Given the description of an element on the screen output the (x, y) to click on. 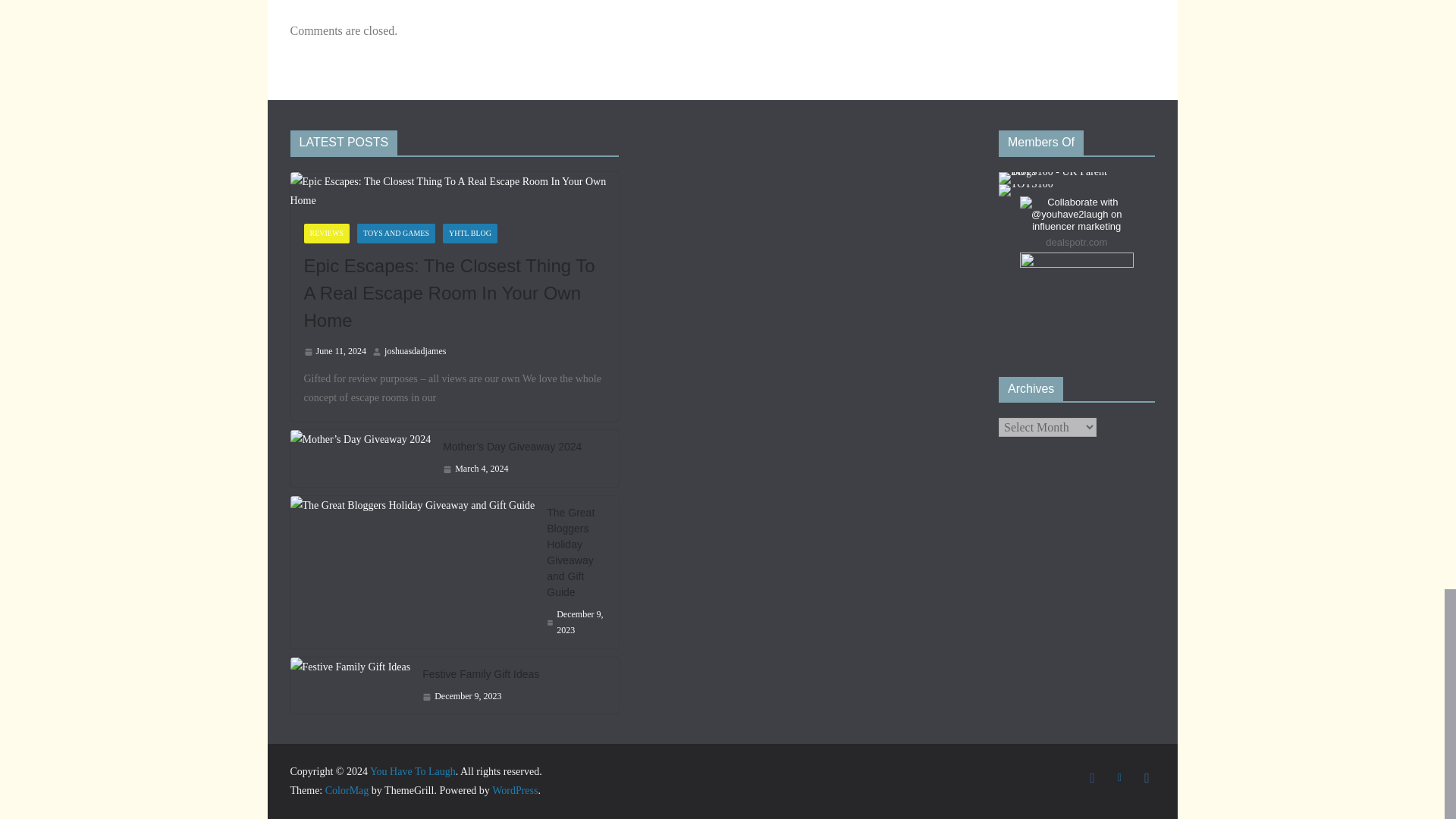
joshuasdadjames (414, 351)
9:23 am (475, 469)
10:15 pm (334, 351)
